Given the description of an element on the screen output the (x, y) to click on. 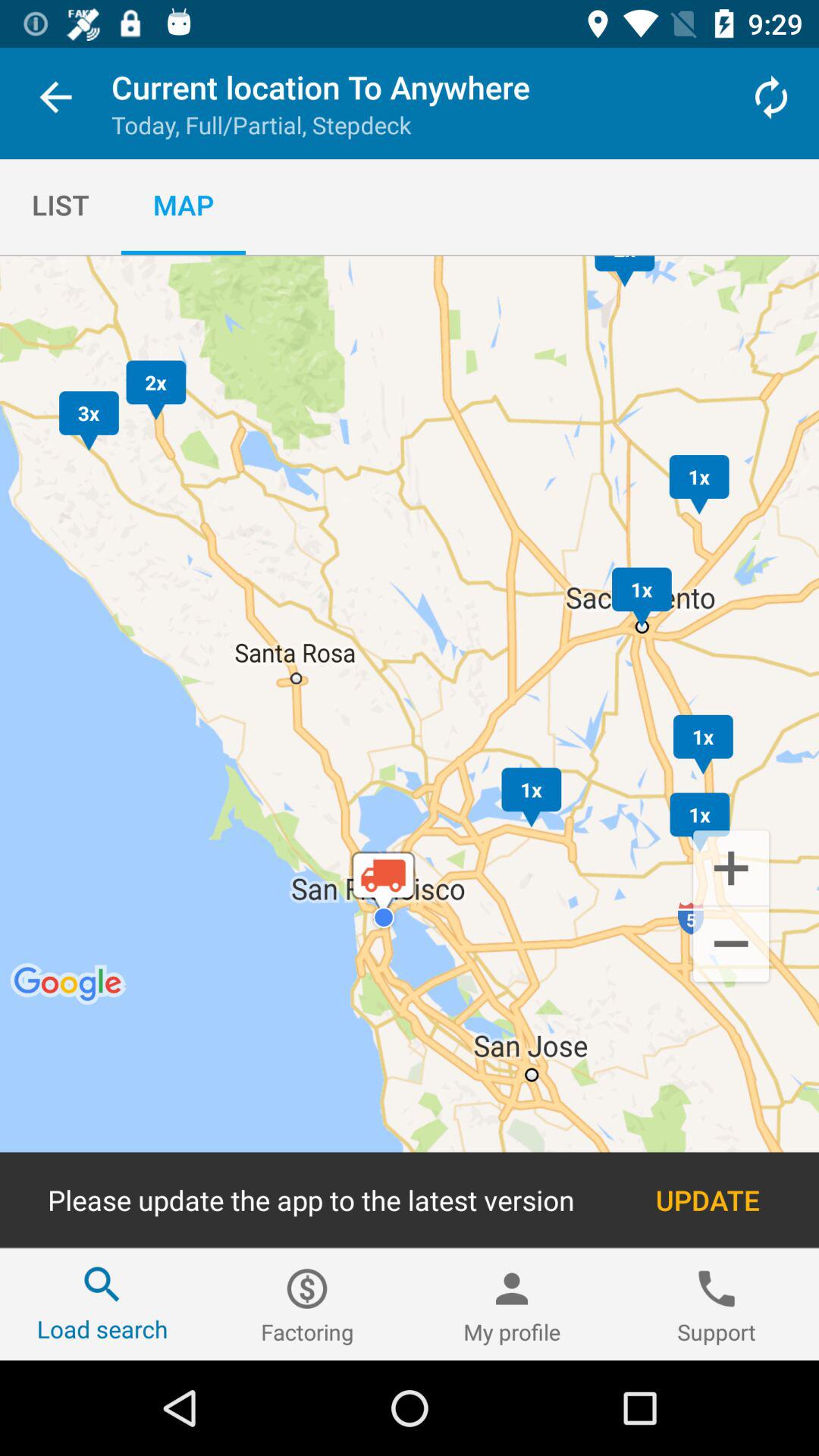
select the item to the left of the current location to item (55, 99)
